Given the description of an element on the screen output the (x, y) to click on. 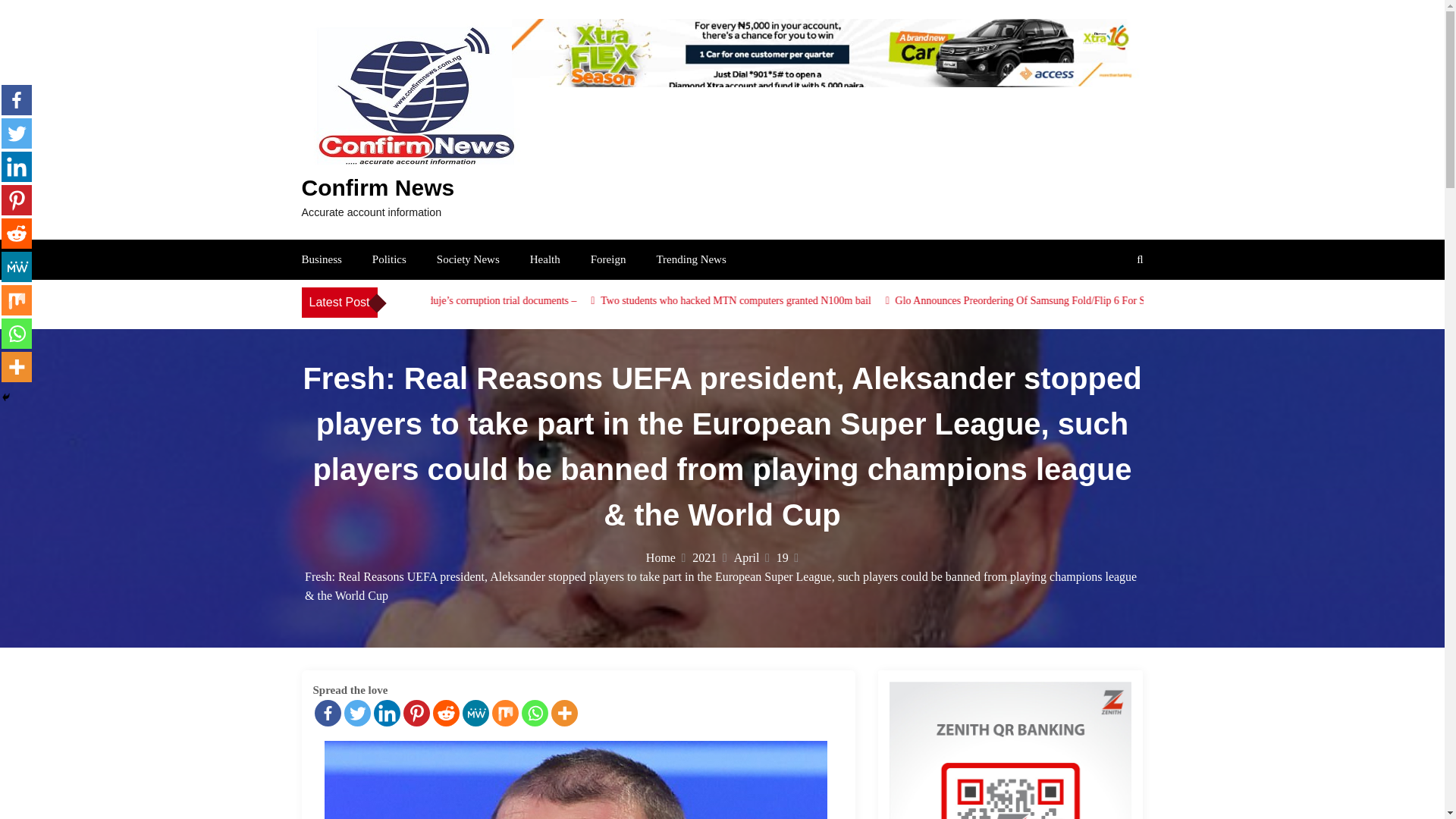
Linkedin (385, 713)
Politics (389, 259)
Confirm News (377, 187)
Facebook (16, 100)
Trending News (690, 259)
Linkedin (16, 166)
Society News (467, 259)
Pinterest (416, 713)
Facebook (327, 713)
Two students who hacked MTN computers granted N100m bail (970, 300)
